Given the description of an element on the screen output the (x, y) to click on. 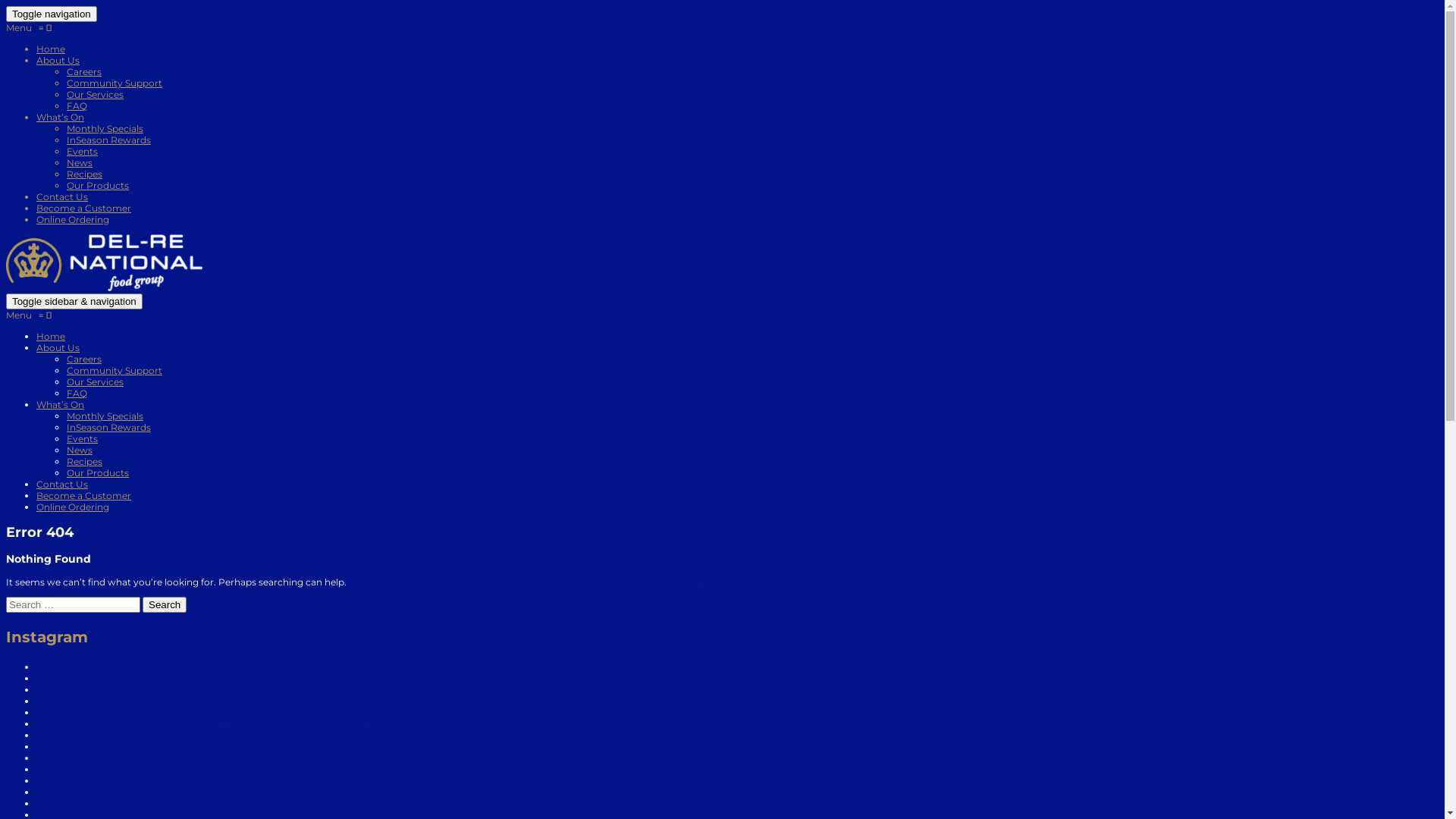
News Element type: text (79, 449)
Events Element type: text (81, 438)
Online Ordering Element type: text (72, 219)
FAQ Element type: text (76, 392)
Recipes Element type: text (84, 461)
Our Products Element type: text (97, 472)
About Us Element type: text (57, 347)
Contact Us Element type: text (61, 196)
Become a Customer Element type: text (83, 207)
Become a Customer Element type: text (83, 495)
Our Services Element type: text (94, 94)
About Us Element type: text (57, 59)
Recipes Element type: text (84, 173)
Events Element type: text (81, 150)
Home Element type: text (50, 48)
Search Element type: text (164, 604)
Careers Element type: text (83, 71)
Community Support Element type: text (114, 370)
Our Products Element type: text (97, 185)
Toggle sidebar & navigation Element type: text (74, 301)
InSeason Rewards Element type: text (108, 139)
Community Support Element type: text (114, 82)
Contact Us Element type: text (61, 483)
Toggle navigation Element type: text (51, 13)
Monthly Specials Element type: text (104, 128)
Careers Element type: text (83, 358)
Our Services Element type: text (94, 381)
Online Ordering Element type: text (72, 506)
FAQ Element type: text (76, 105)
InSeason Rewards Element type: text (108, 427)
Monthly Specials Element type: text (104, 415)
News Element type: text (79, 162)
Home Element type: text (50, 336)
